Given the description of an element on the screen output the (x, y) to click on. 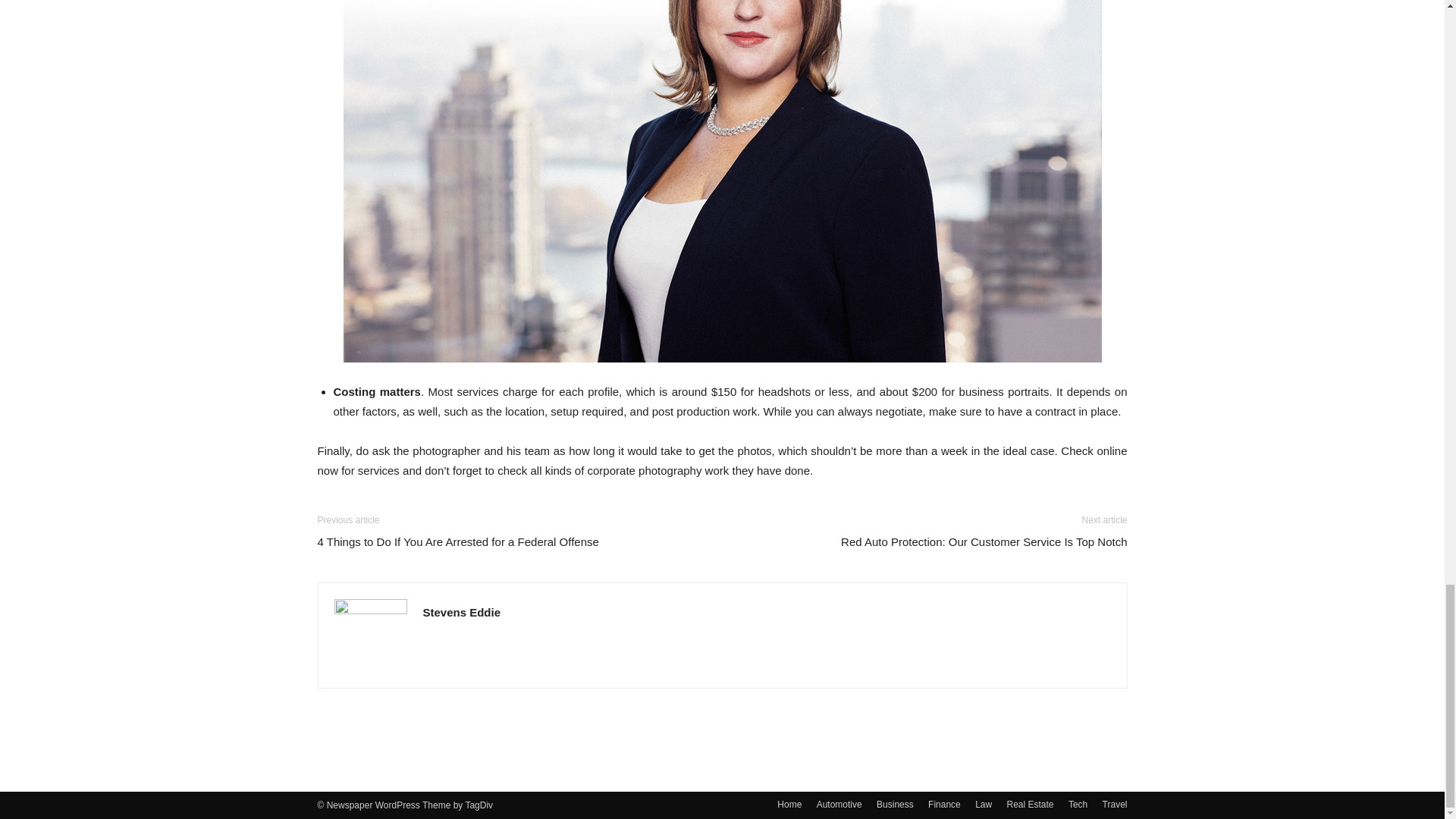
Real Estate (1030, 804)
Finance (944, 804)
Automotive (838, 804)
Business (895, 804)
4 Things to Do If You Are Arrested for a Federal Offense (457, 541)
Tech (1077, 804)
Home (789, 804)
Red Auto Protection: Our Customer Service Is Top Notch (983, 541)
Law (983, 804)
Stevens Eddie (461, 612)
Travel (1114, 804)
